Given the description of an element on the screen output the (x, y) to click on. 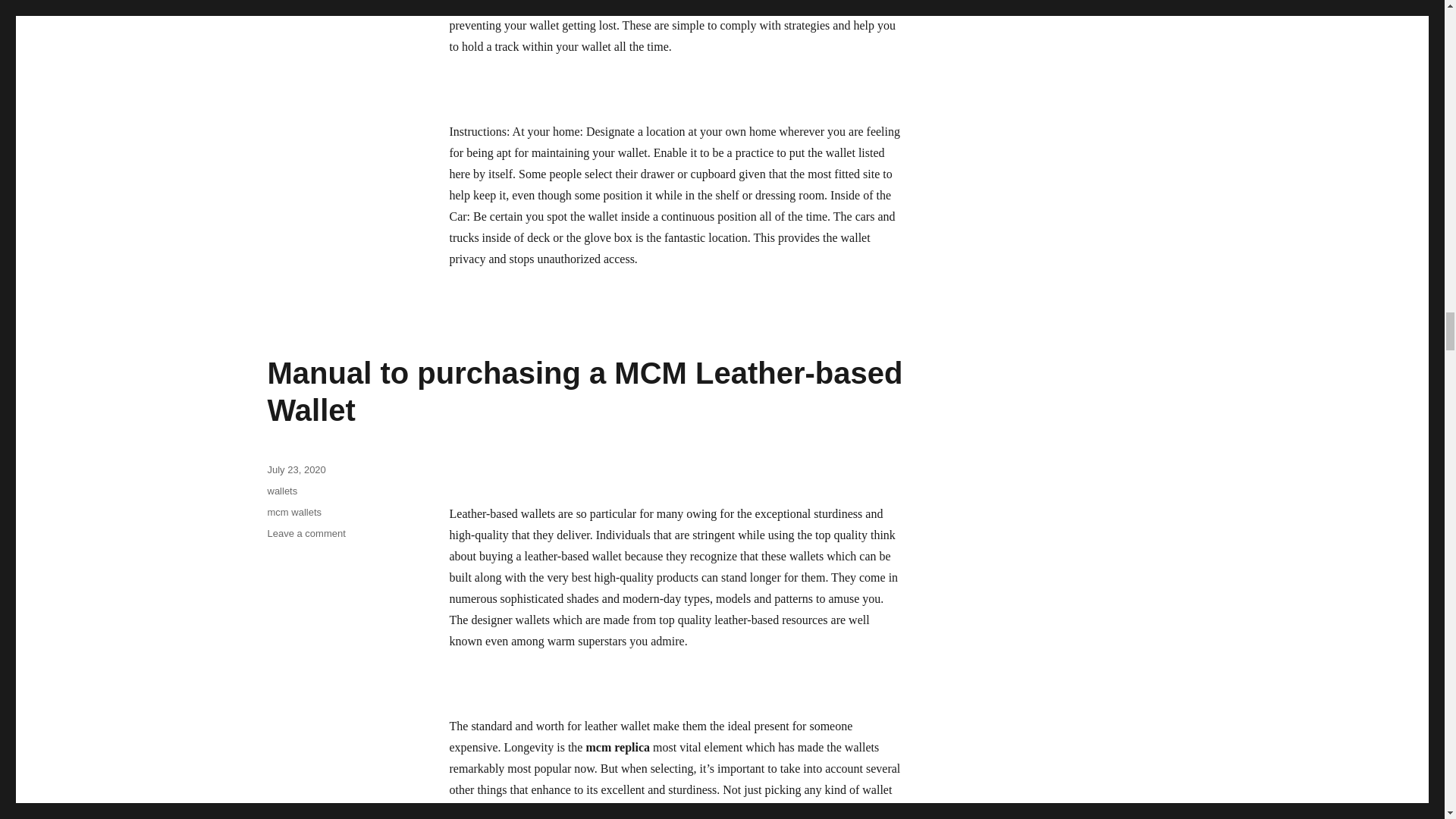
Manual to purchasing a MCM Leather-based Wallet (584, 391)
mcm wallets (293, 511)
July 23, 2020 (295, 469)
wallets (281, 490)
